Given the description of an element on the screen output the (x, y) to click on. 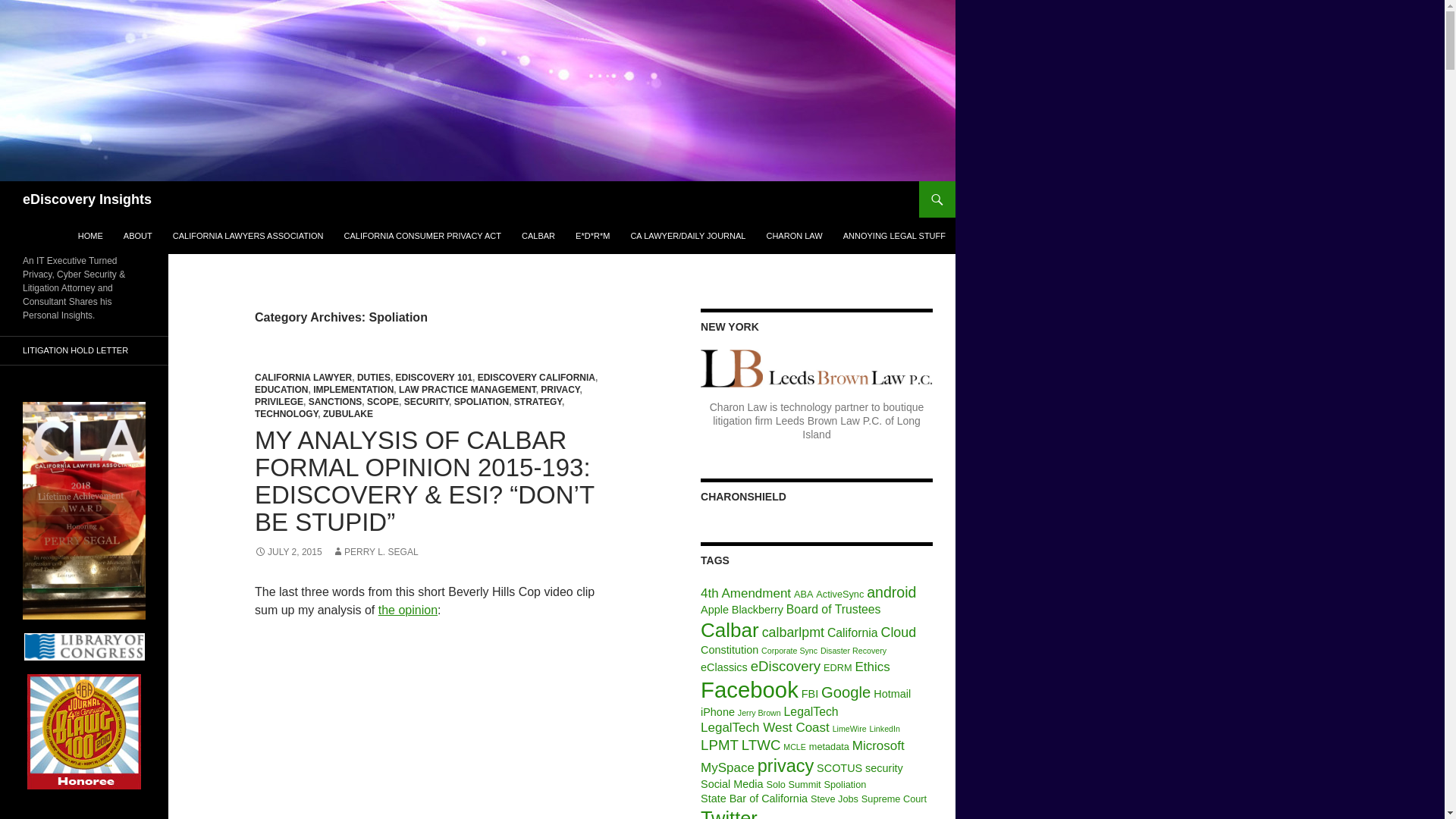
SCOPE (382, 401)
DUTIES (373, 377)
TECHNOLOGY (285, 413)
IMPLEMENTATION (353, 389)
HOME (90, 235)
SPOLIATION (481, 401)
STRATEGY (537, 401)
CALIFORNIA CONSUMER PRIVACY ACT (422, 235)
PERRY L. SEGAL (375, 552)
EDISCOVERY 101 (433, 377)
PRIVACY (559, 389)
SANCTIONS (335, 401)
CALIFORNIA LAWYER (303, 377)
ZUBULAKE (347, 413)
